Given the description of an element on the screen output the (x, y) to click on. 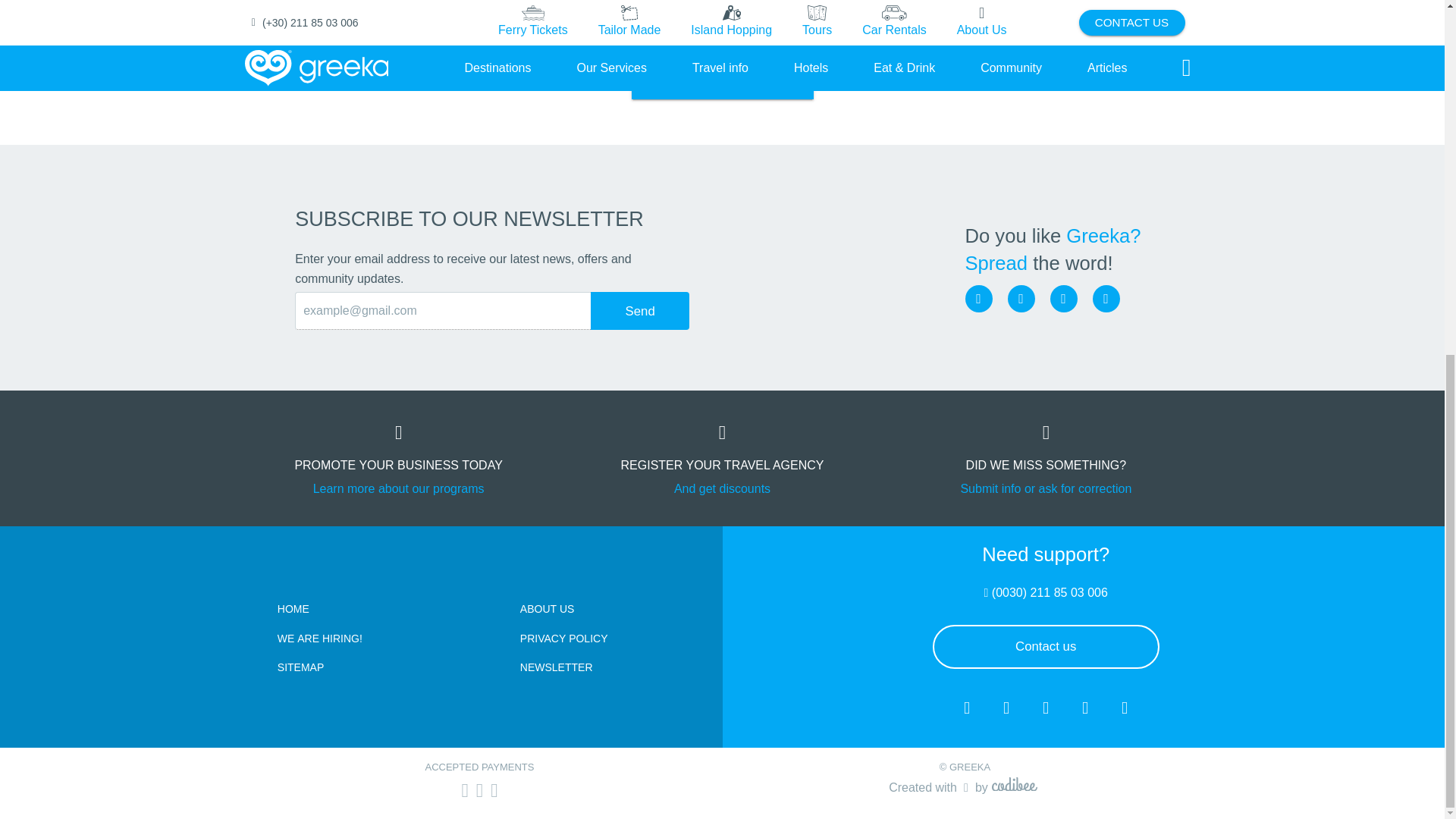
Twitter (1063, 298)
Learn more about our programs (398, 488)
Facebook (977, 298)
ASK THE COMMUNITY (721, 77)
Instagram (1020, 298)
Instagram (1020, 298)
Twitter (1063, 298)
Pinterest (1105, 298)
Send (639, 310)
Facebook (977, 298)
